Given the description of an element on the screen output the (x, y) to click on. 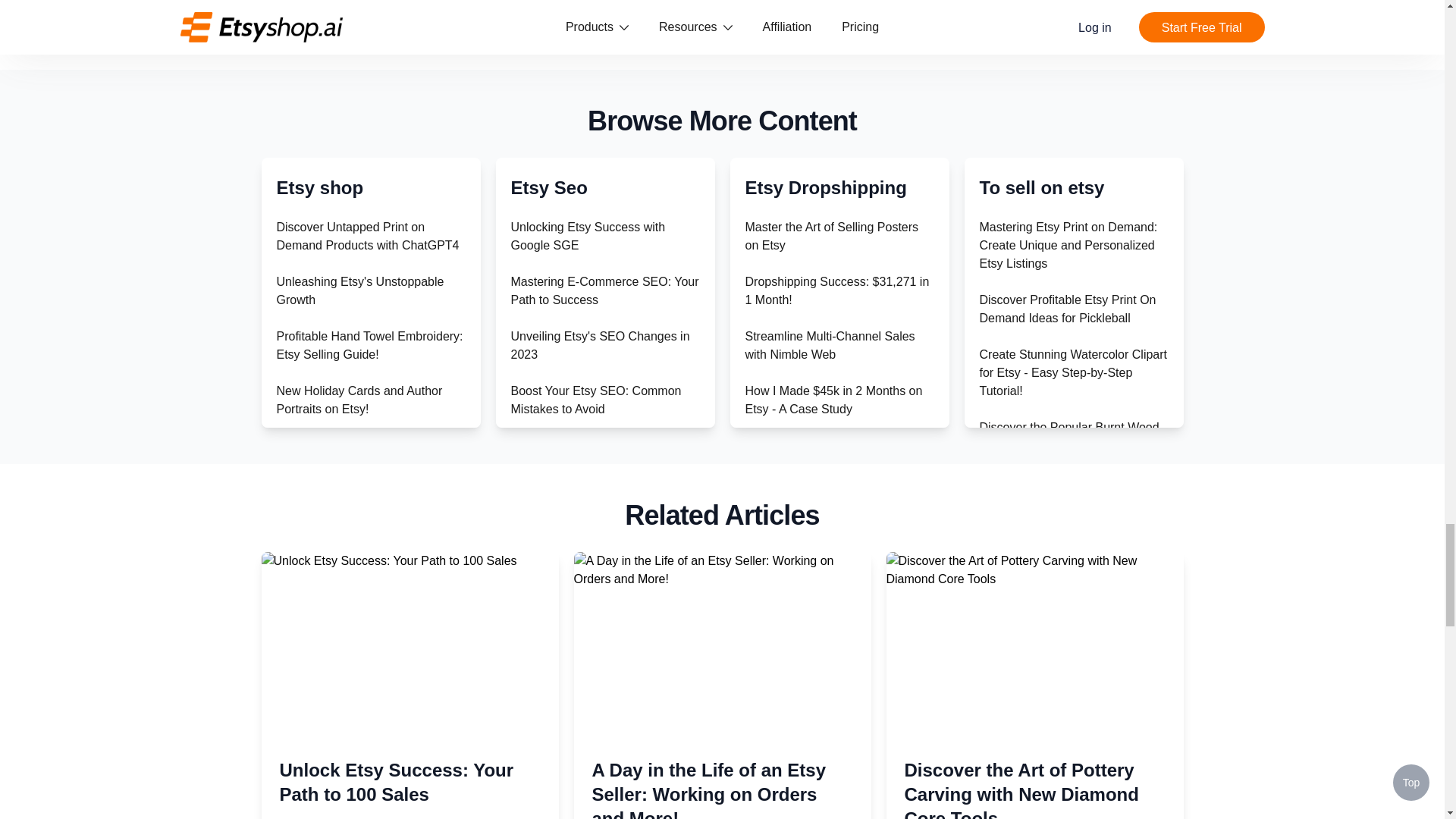
Unveiling Etsy's SEO Changes in 2023 (600, 345)
Boost Your Etsy SEO: Common Mistakes to Avoid (596, 399)
Master the Art of Selling Posters on Etsy (831, 235)
Profitable Hand Towel Embroidery: Etsy Selling Guide! (369, 345)
Mastering E-Commerce SEO: Your Path to Success (604, 290)
Mastering SEO Writing for Online Success (600, 508)
Maximizing Profit: Etsy vs Poshmark (344, 745)
Maximizing Marmalade for Etsy SEO Success (595, 672)
Boost Your Etsy SEO in 2023 (589, 717)
Exciting Update: My First Plushie Arrived! - Business Vlog (365, 508)
Unbridled Etsy Battles: KingCobraJFS vs the World (350, 563)
ETSY STAR SELLER Secrets Revealed (356, 454)
Unboxing Beautiful Orchids from Etsy's Triton Orchids (362, 617)
New Holiday Cards and Author Portraits on Etsy! (359, 399)
Unleashing Etsy's Unstoppable Growth (360, 290)
